Given the description of an element on the screen output the (x, y) to click on. 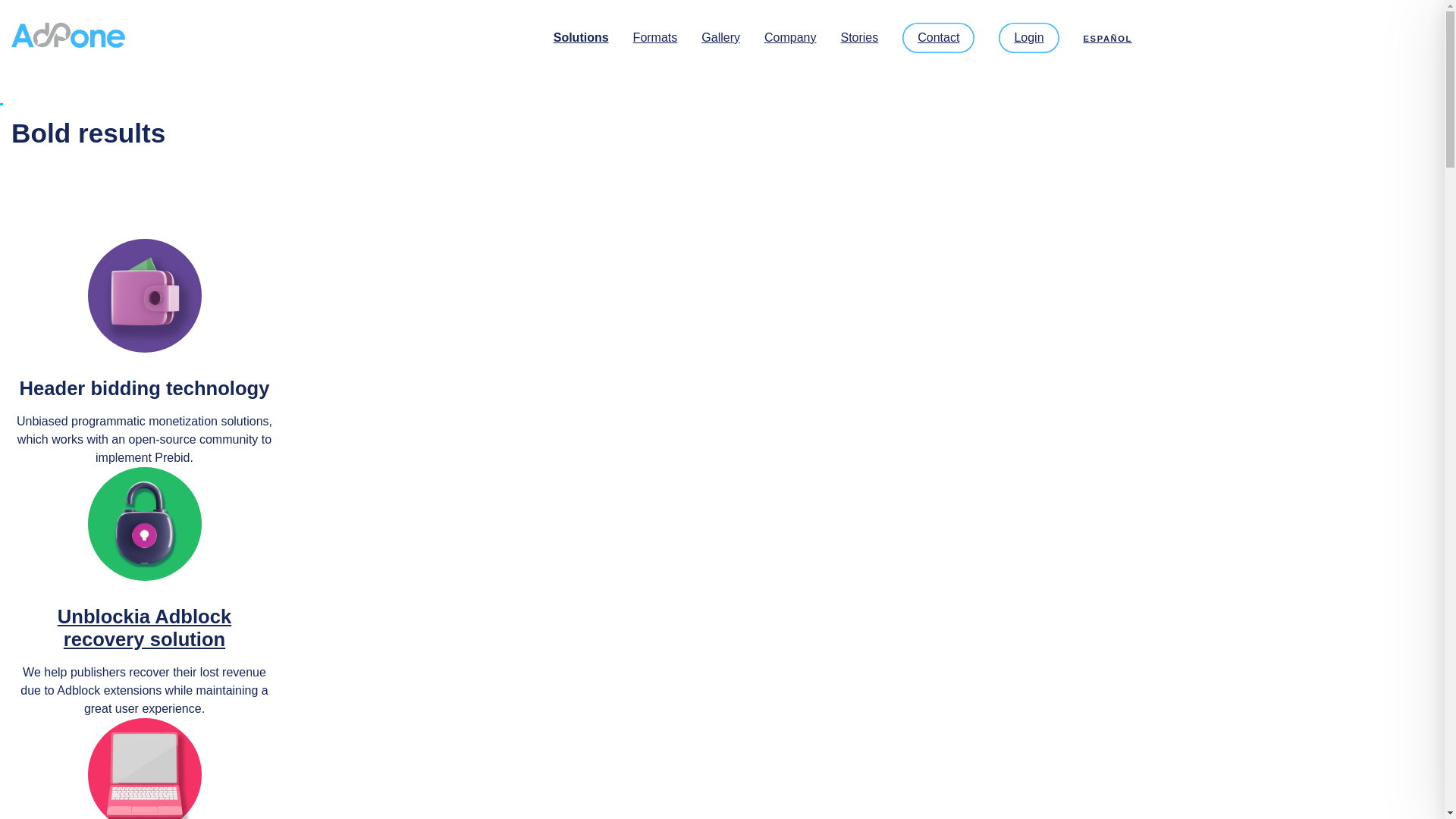
Formats (655, 37)
Gallery (720, 37)
Company (789, 37)
Contact (938, 37)
Solutions (580, 37)
Login (1028, 37)
Stories (858, 37)
Unblockia Adblock recovery solution (144, 627)
